Given the description of an element on the screen output the (x, y) to click on. 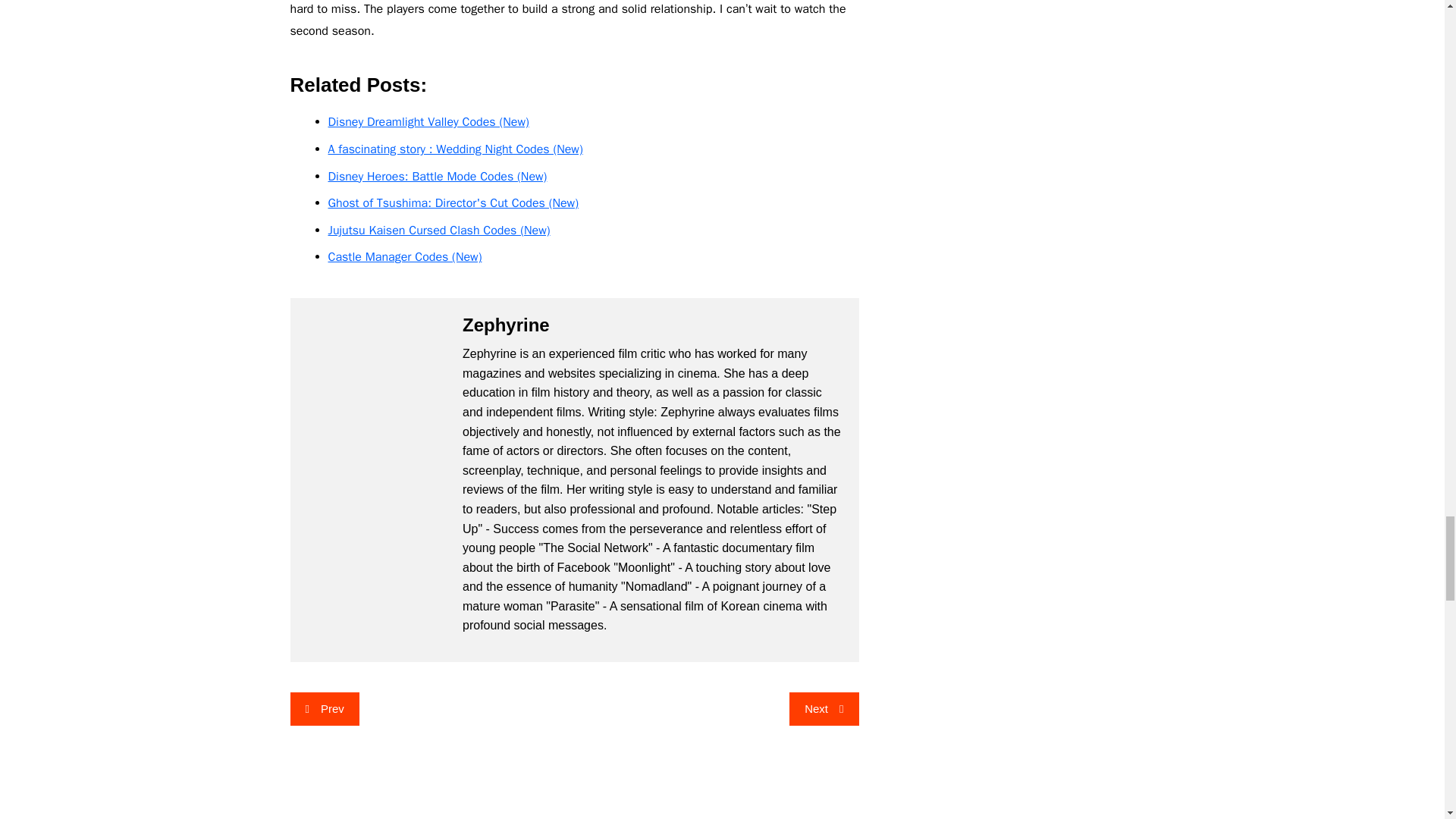
Prev (323, 708)
Next (824, 708)
